Given the description of an element on the screen output the (x, y) to click on. 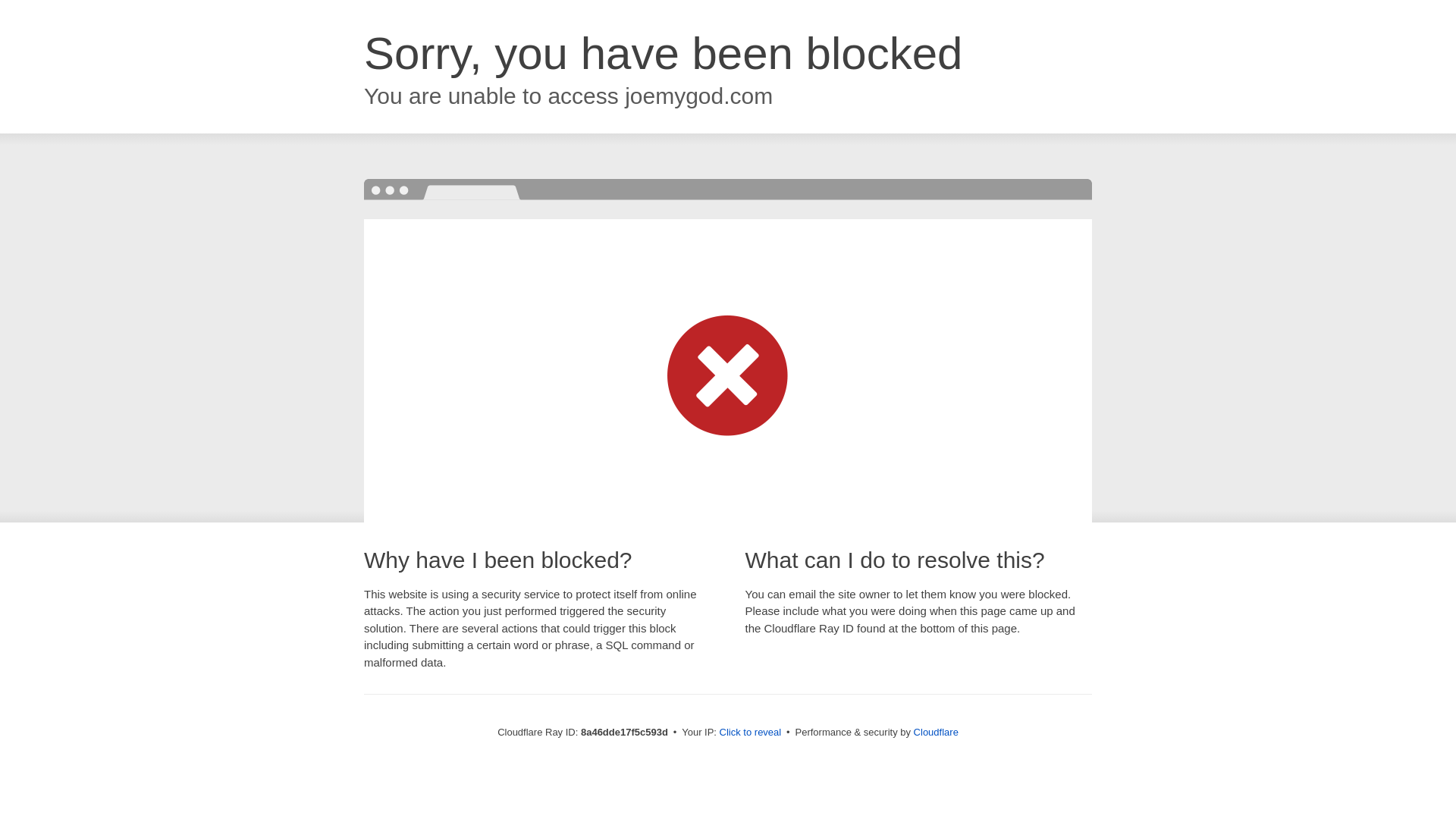
Cloudflare (936, 731)
Click to reveal (750, 732)
